Given the description of an element on the screen output the (x, y) to click on. 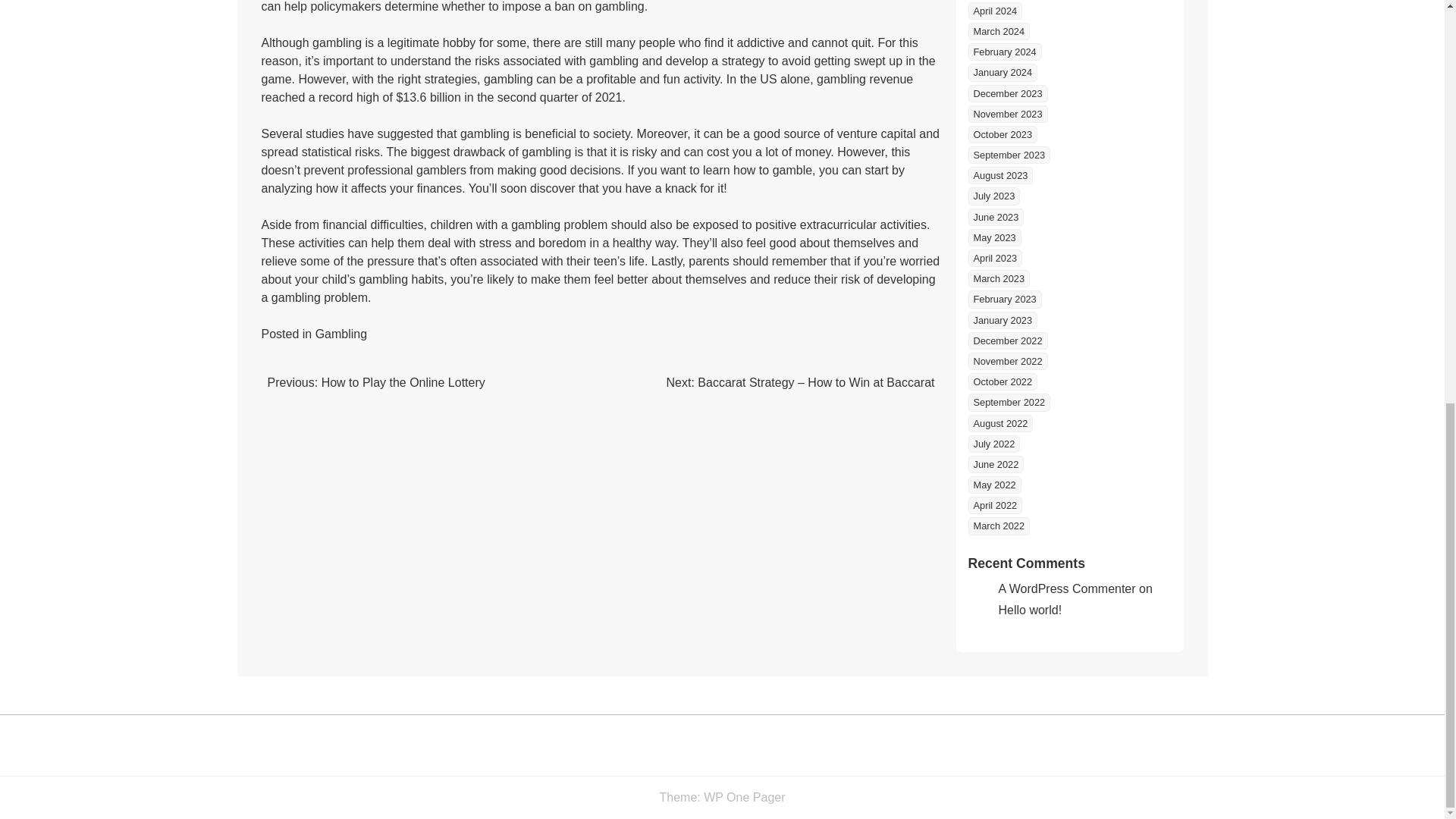
March 2023 (998, 278)
Previous: How to Play the Online Lottery (375, 382)
April 2023 (995, 257)
April 2024 (995, 10)
August 2023 (1000, 175)
May 2023 (994, 237)
October 2023 (1002, 134)
February 2023 (1004, 298)
November 2023 (1007, 113)
February 2024 (1004, 51)
January 2024 (1002, 72)
September 2023 (1008, 154)
June 2023 (995, 217)
Gambling (340, 333)
March 2024 (998, 31)
